Given the description of an element on the screen output the (x, y) to click on. 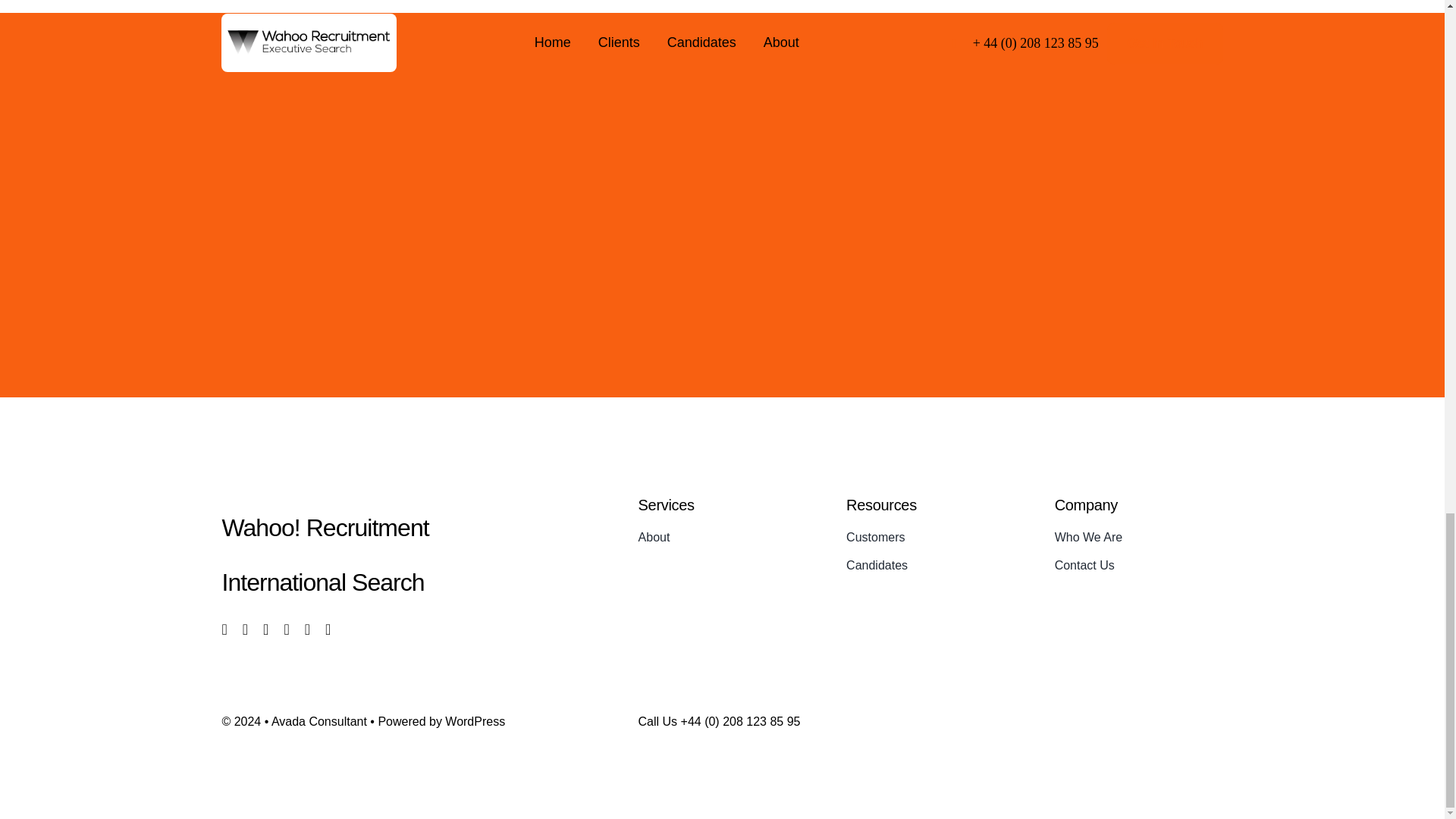
Who We Are (1138, 537)
Contact Us (1138, 565)
Customers (929, 537)
About (722, 537)
Candidates (929, 565)
